Given the description of an element on the screen output the (x, y) to click on. 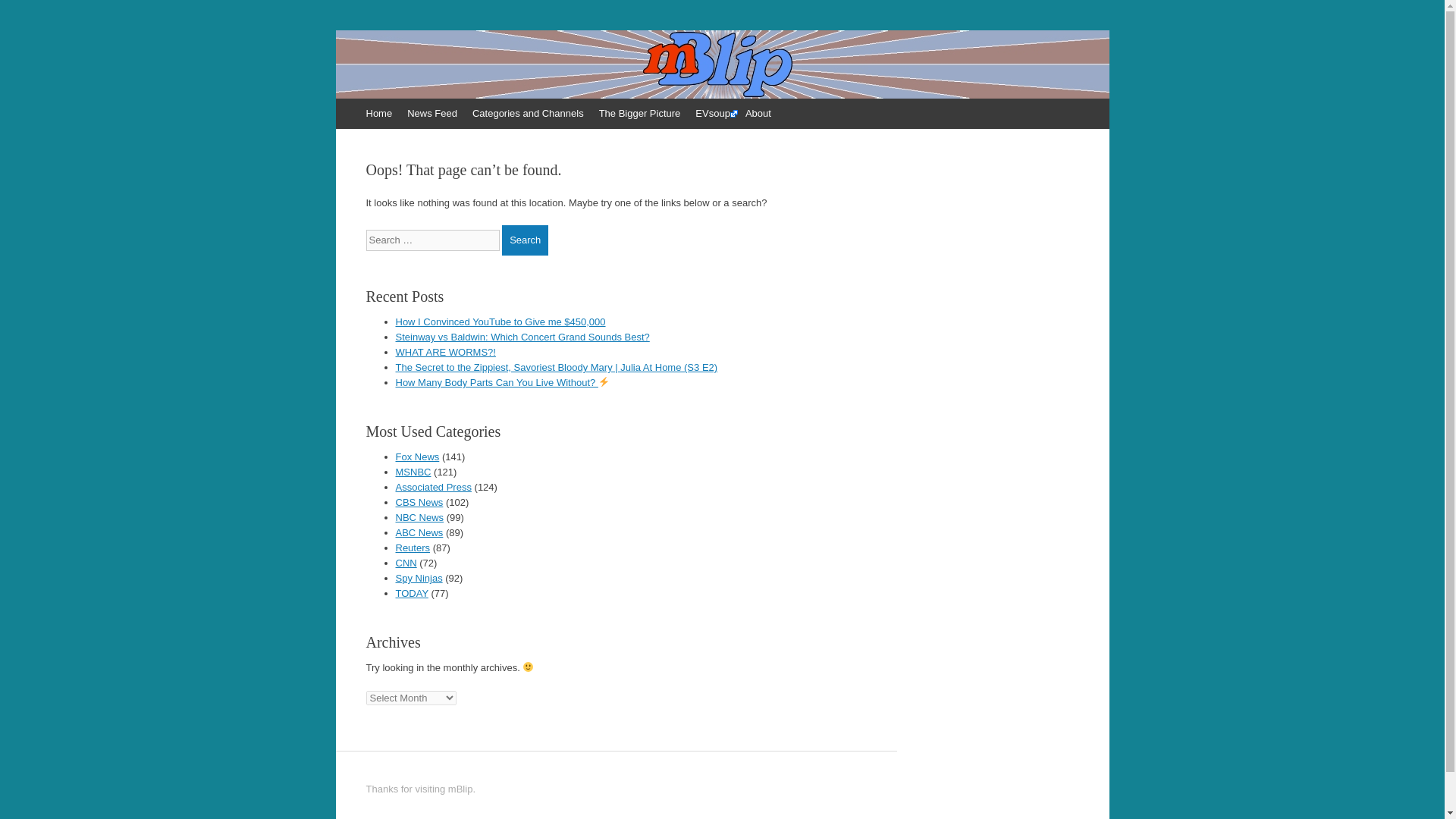
About (758, 113)
News Feed (431, 113)
EVsoup (712, 113)
Steinway vs Baldwin: Which Concert Grand Sounds Best? (522, 337)
WHAT ARE WORMS?! (446, 351)
TODAY (412, 593)
Categories and Channels (527, 113)
The Bigger Picture (639, 113)
Fox News (417, 456)
Reuters (413, 547)
